Given the description of an element on the screen output the (x, y) to click on. 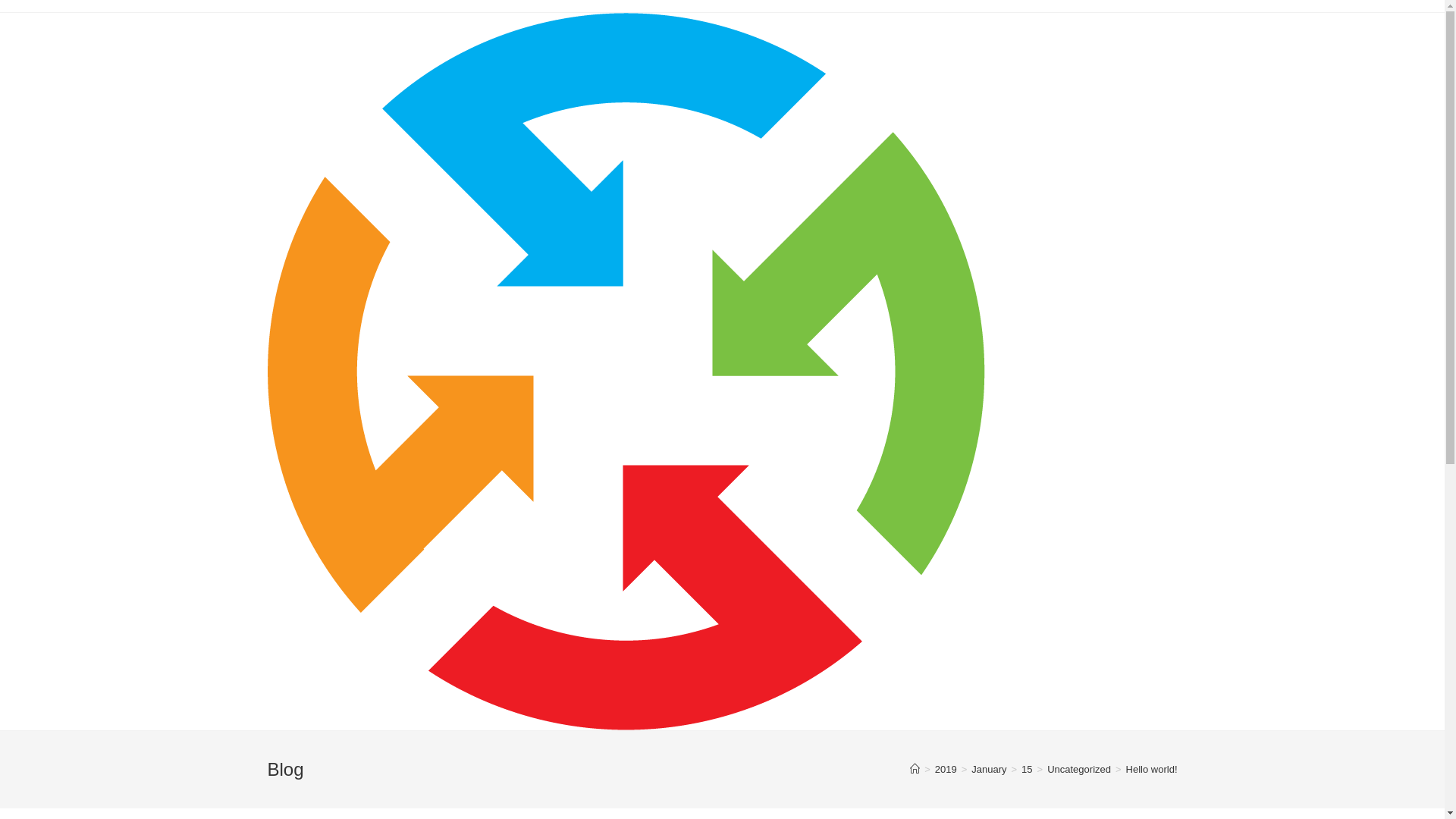
Uncategorized Element type: text (1078, 769)
January Element type: text (988, 769)
Hello world! Element type: text (1151, 769)
2019 Element type: text (946, 769)
15 Element type: text (1026, 769)
